Given the description of an element on the screen output the (x, y) to click on. 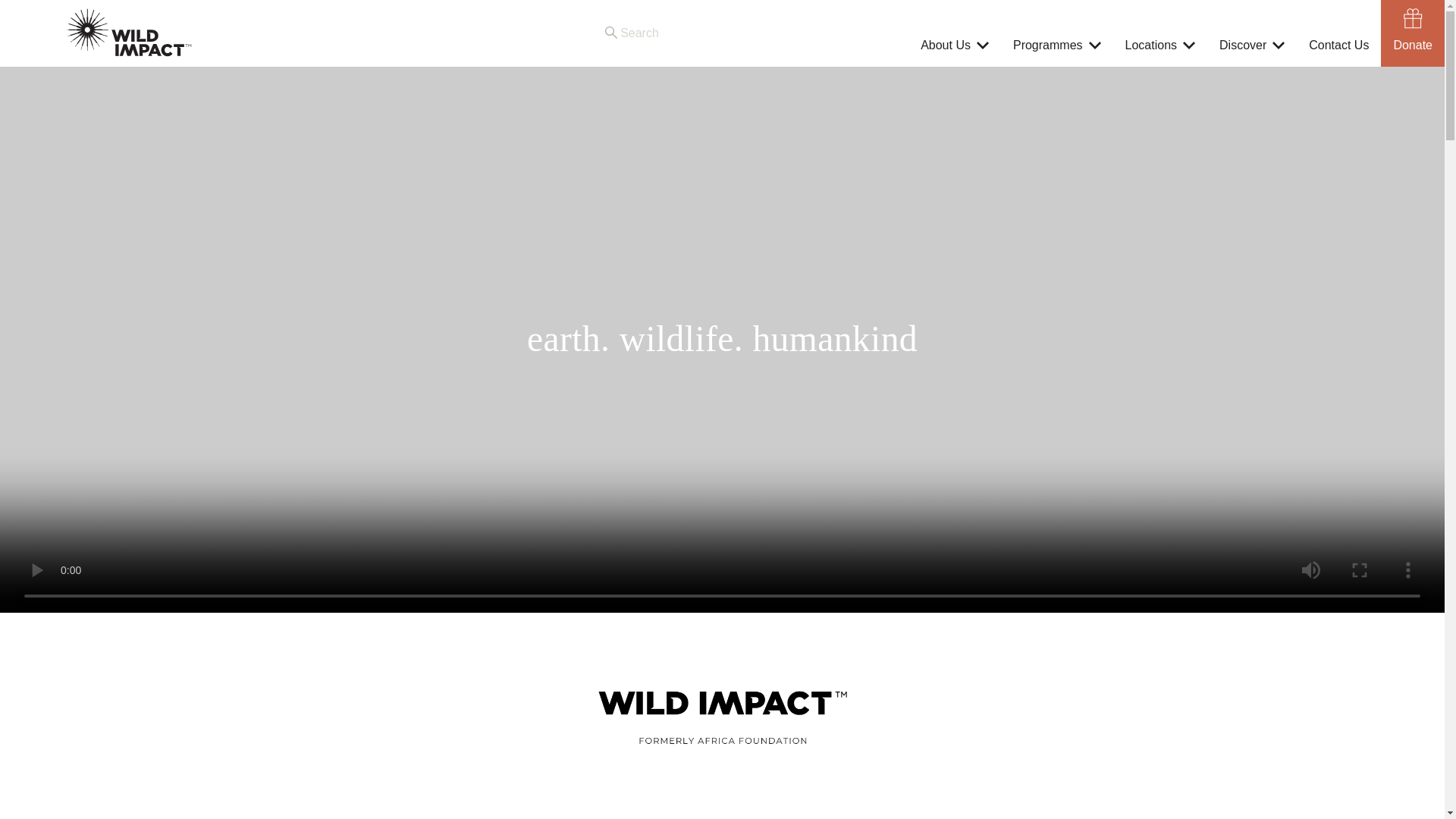
Menu (39, 9)
Wild Impact (128, 33)
About Us (945, 45)
Contact Us (1338, 45)
Skip to navigation and open menu (39, 9)
Programmes (1048, 45)
Discover (1243, 45)
Locations (1151, 45)
